Given the description of an element on the screen output the (x, y) to click on. 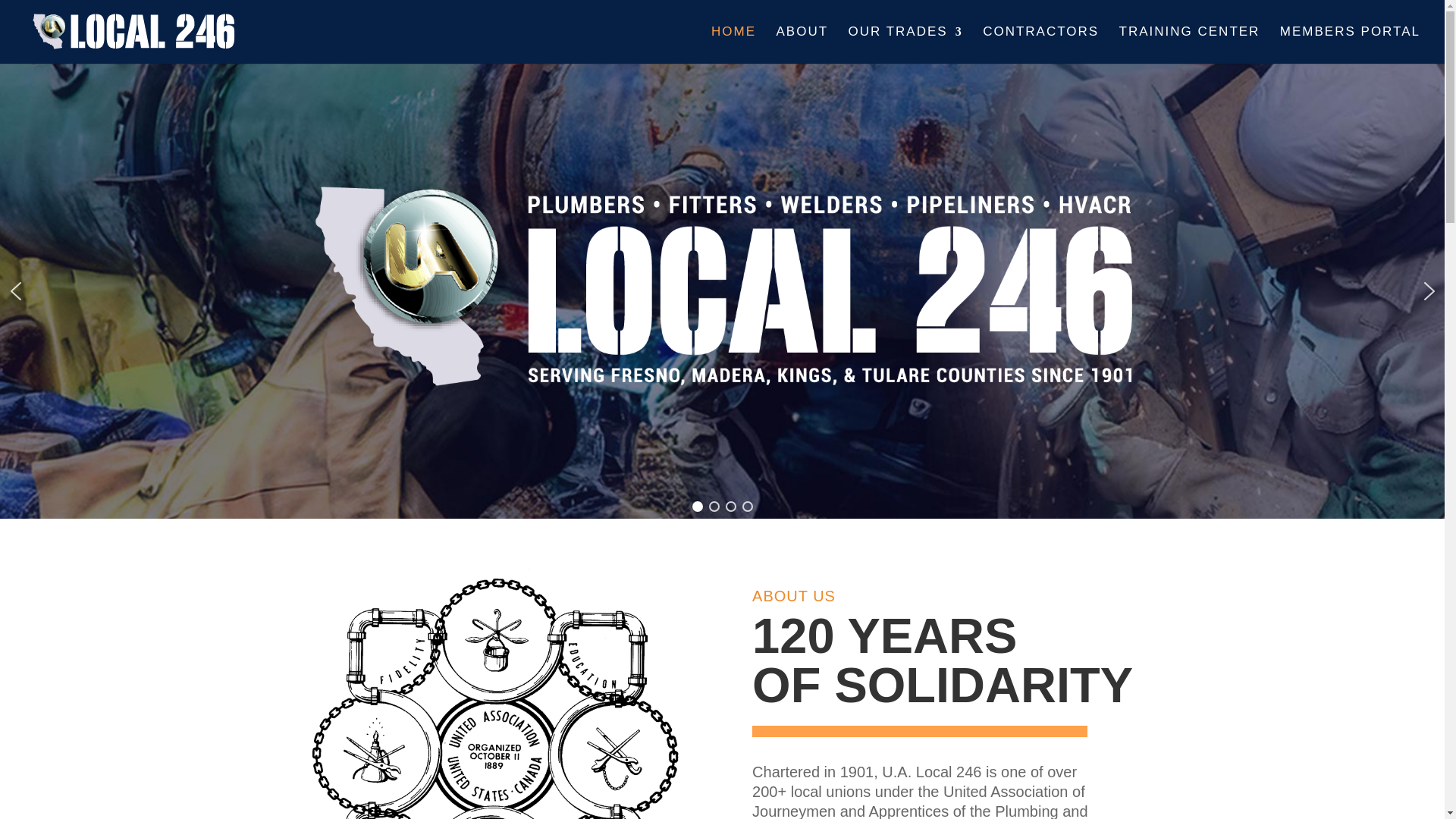
CONTRACTORS (1040, 44)
ABOUT (802, 44)
MEMBERS PORTAL (1350, 44)
OUR TRADES (905, 44)
TRAINING CENTER (1189, 44)
HOME (733, 44)
UA Logo (499, 678)
